Given the description of an element on the screen output the (x, y) to click on. 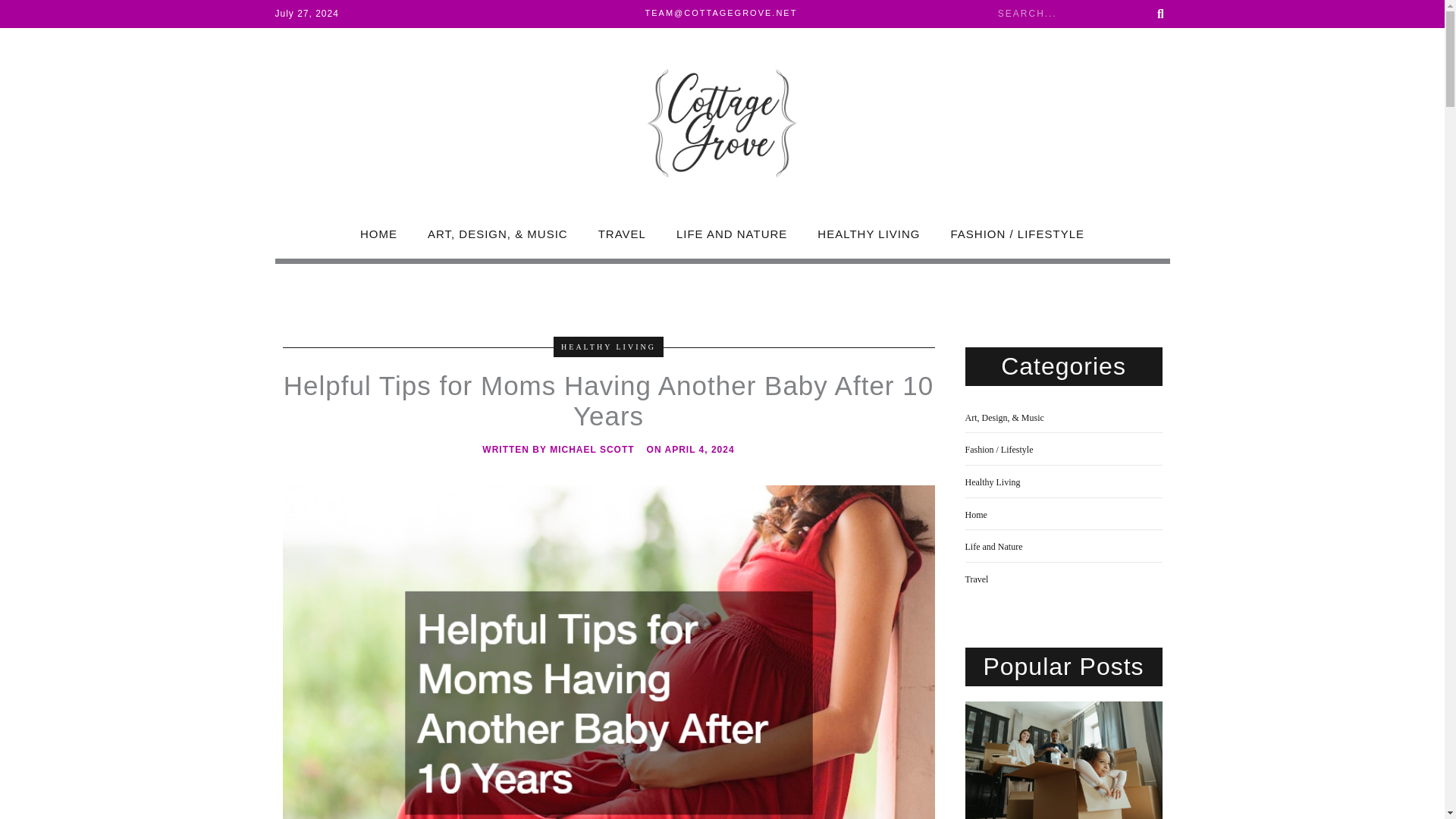
ON APRIL 4, 2024 (690, 449)
HOME (378, 233)
HEALTHY LIVING (868, 233)
LIFE AND NATURE (731, 233)
HEALTHY LIVING (608, 346)
TRAVEL (622, 233)
WRITTEN BY MICHAEL SCOTT (557, 449)
